Given the description of an element on the screen output the (x, y) to click on. 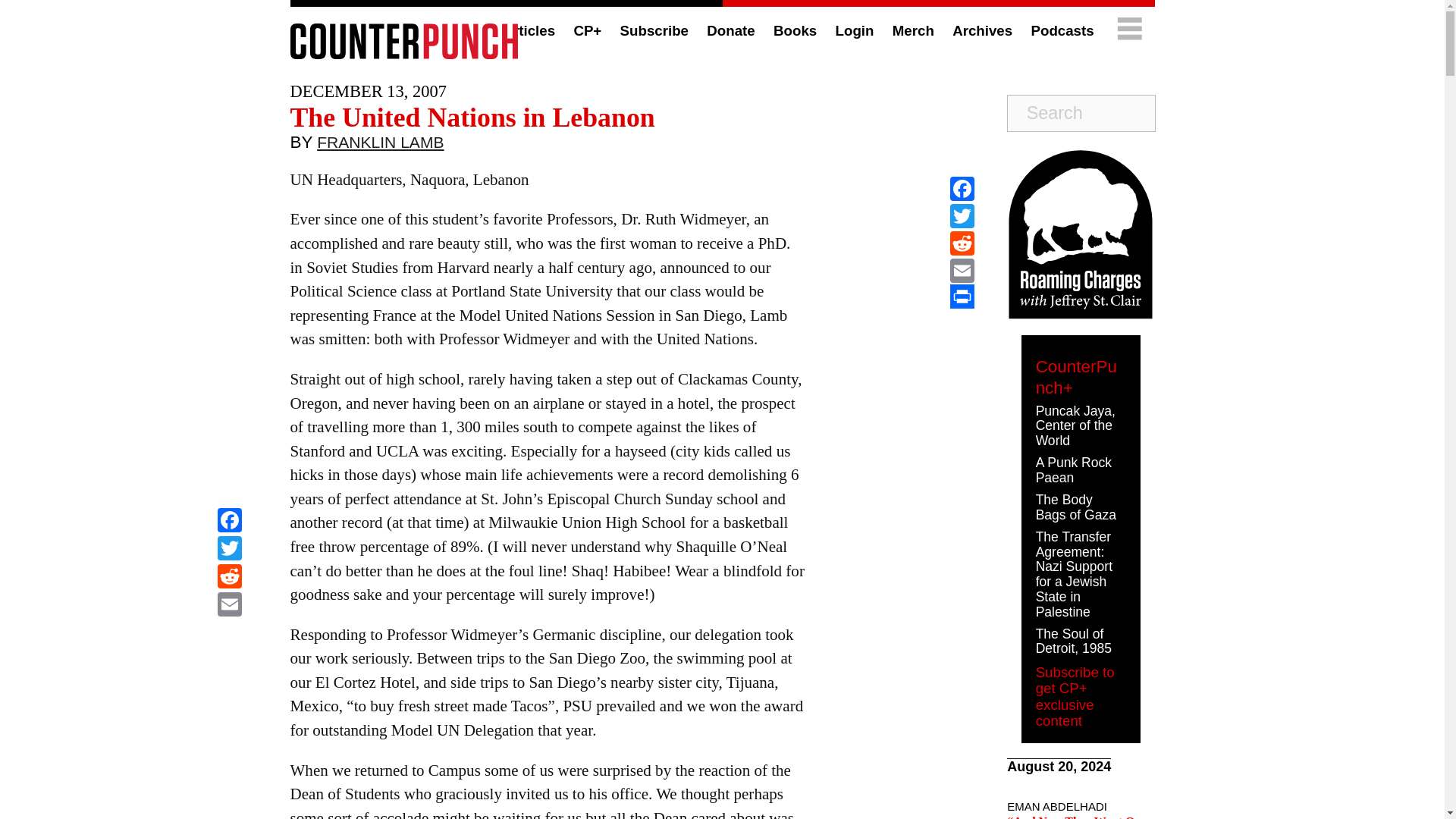
Twitter (229, 550)
Facebook (229, 521)
Articles (528, 30)
Reddit (229, 578)
Donate (730, 30)
Email (229, 605)
Reddit (229, 578)
Print This Post (962, 296)
Books (794, 30)
The Body Bags of Gaza (1075, 507)
